Given the description of an element on the screen output the (x, y) to click on. 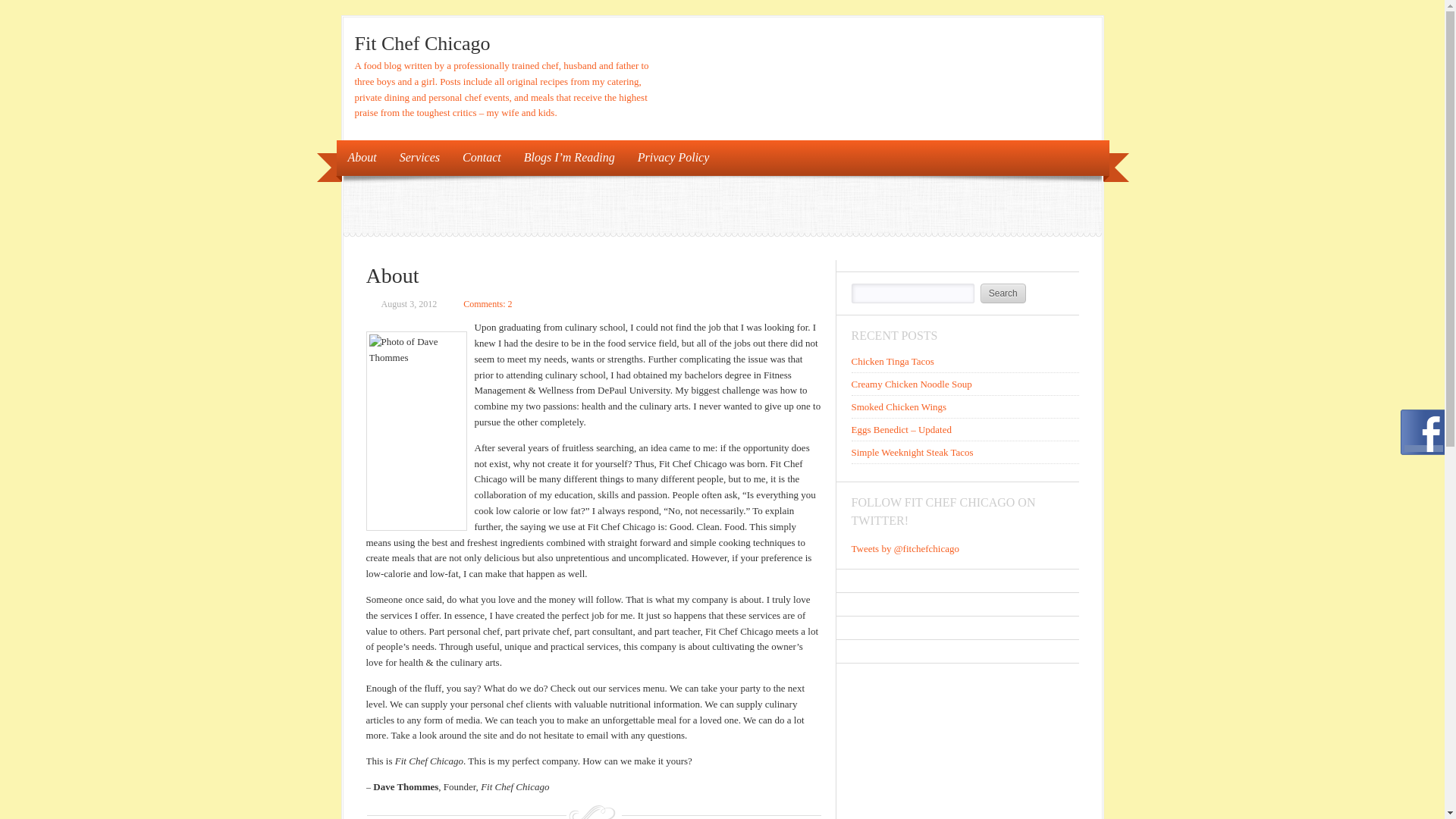
Fit Chef Chicago (422, 43)
Smoked Chicken Wings (898, 406)
About (362, 158)
Services (419, 158)
Creamy Chicken Noodle Soup (910, 383)
Simple Weeknight Steak Tacos (911, 451)
Search (1002, 293)
Privacy Policy (673, 158)
Search (1002, 293)
Comments: 2 (487, 303)
Chicken Tinga Tacos (891, 360)
Contact (481, 158)
